Given the description of an element on the screen output the (x, y) to click on. 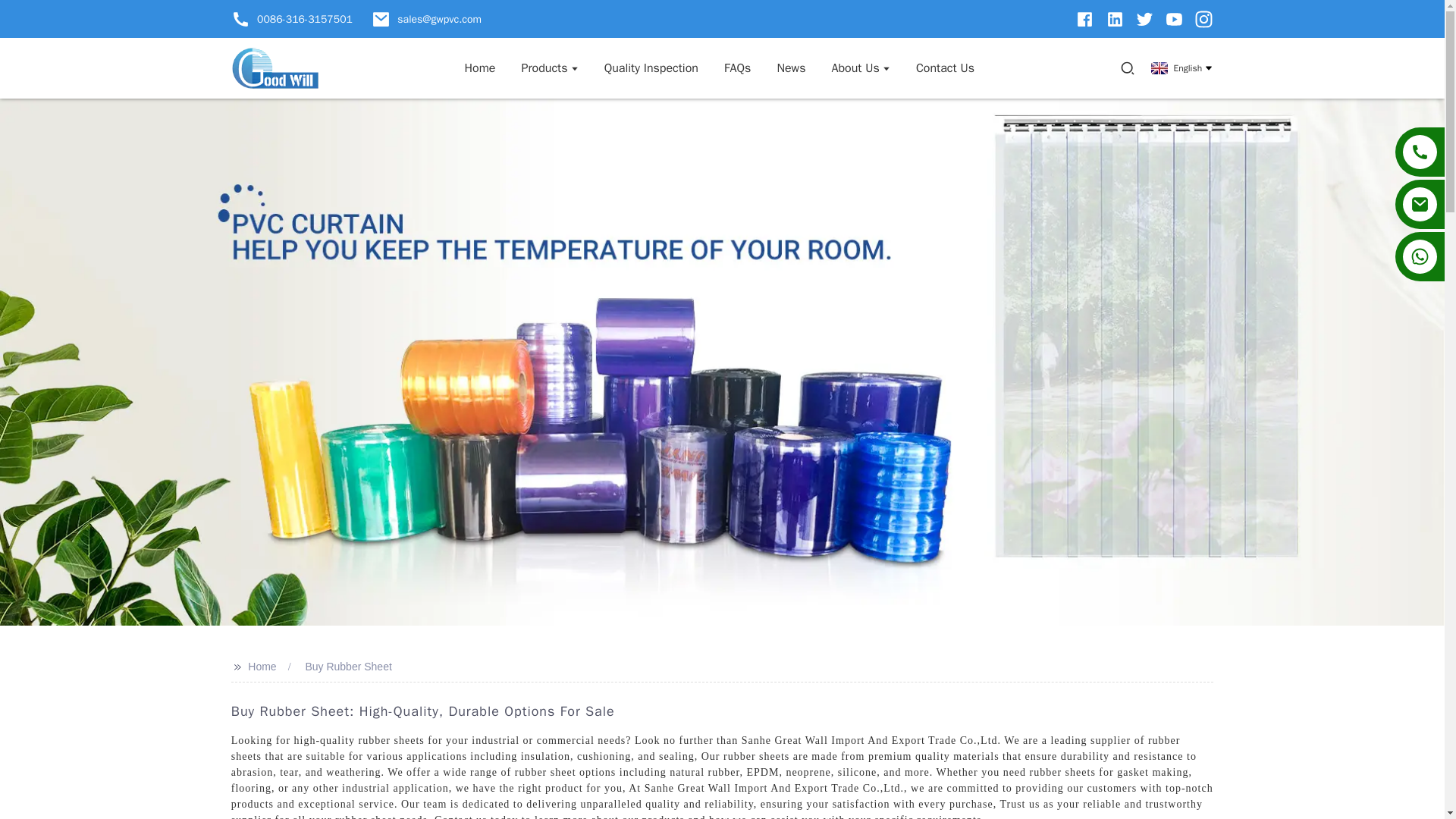
search (1126, 68)
Quality Inspection (651, 67)
Contact Us (945, 67)
Products (549, 67)
products (549, 67)
about-us (860, 67)
quality-inspection (651, 67)
About Us (860, 67)
contact-us (945, 67)
0086-316-3157501 (291, 18)
